Given the description of an element on the screen output the (x, y) to click on. 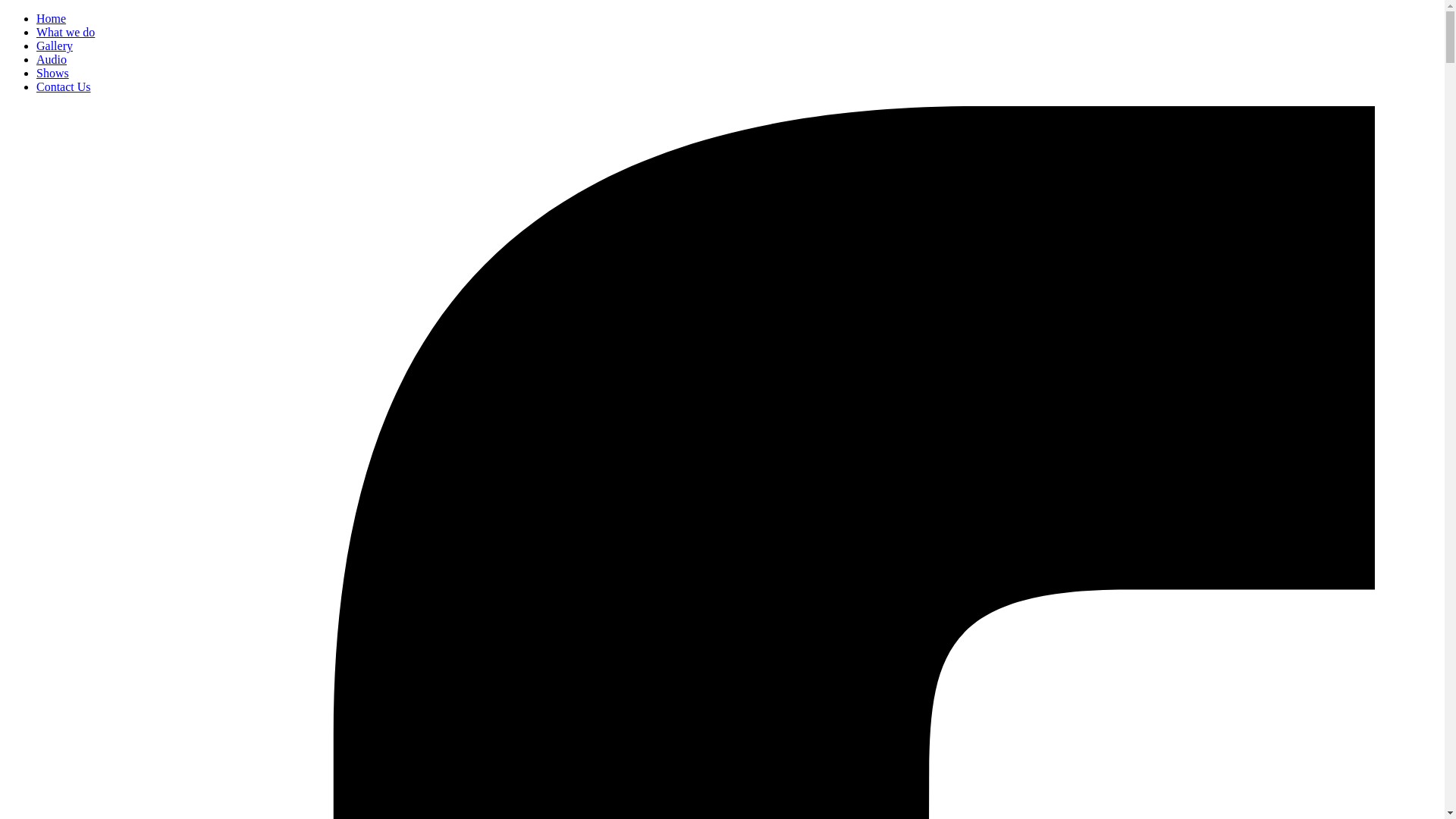
Shows Element type: text (52, 72)
What we do Element type: text (65, 31)
Gallery Element type: text (54, 45)
Contact Us Element type: text (63, 86)
Audio Element type: text (51, 59)
Home Element type: text (50, 18)
